Given the description of an element on the screen output the (x, y) to click on. 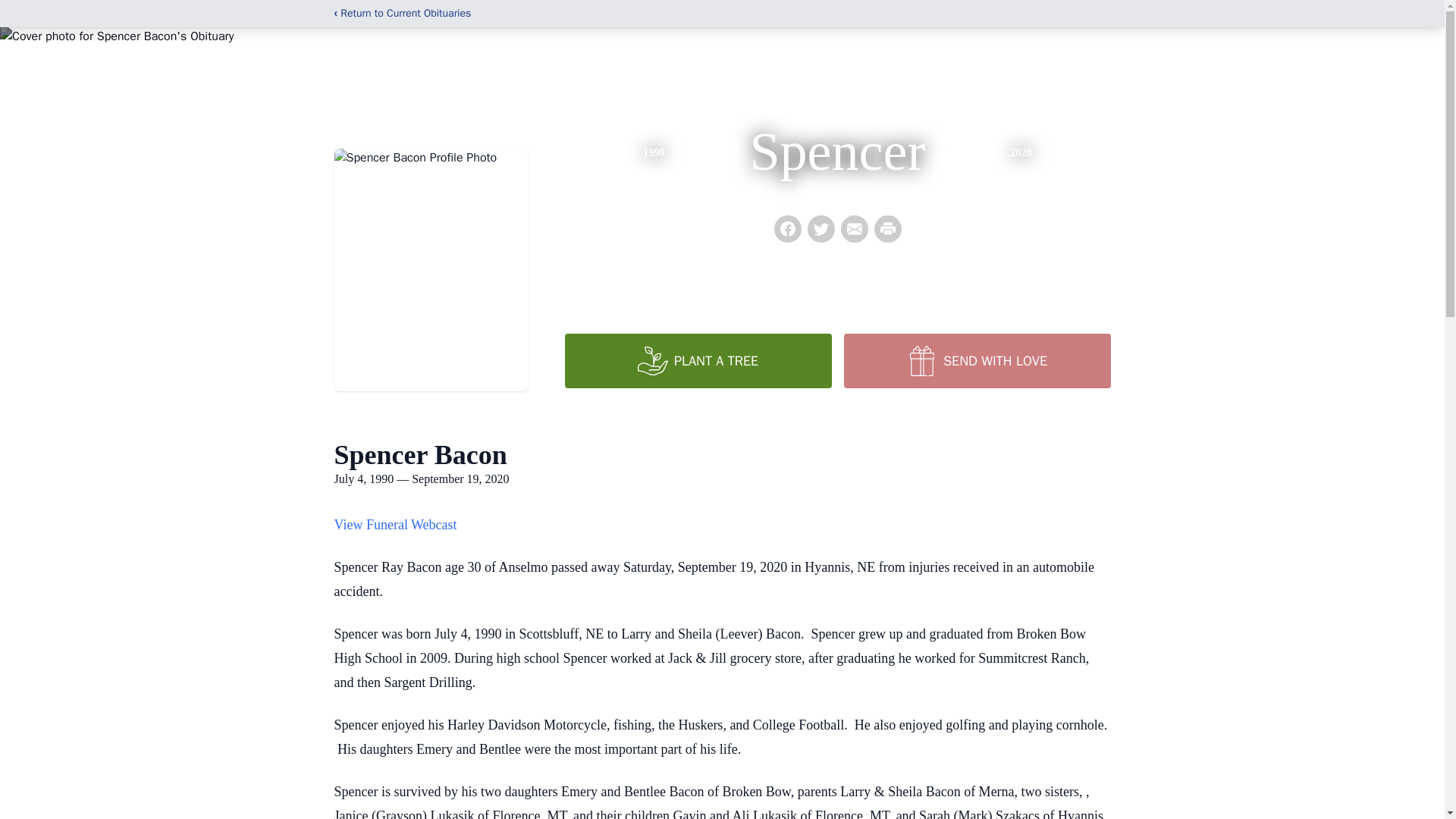
SEND WITH LOVE (976, 360)
PLANT A TREE (697, 360)
View Funeral Webcast (395, 524)
